Given the description of an element on the screen output the (x, y) to click on. 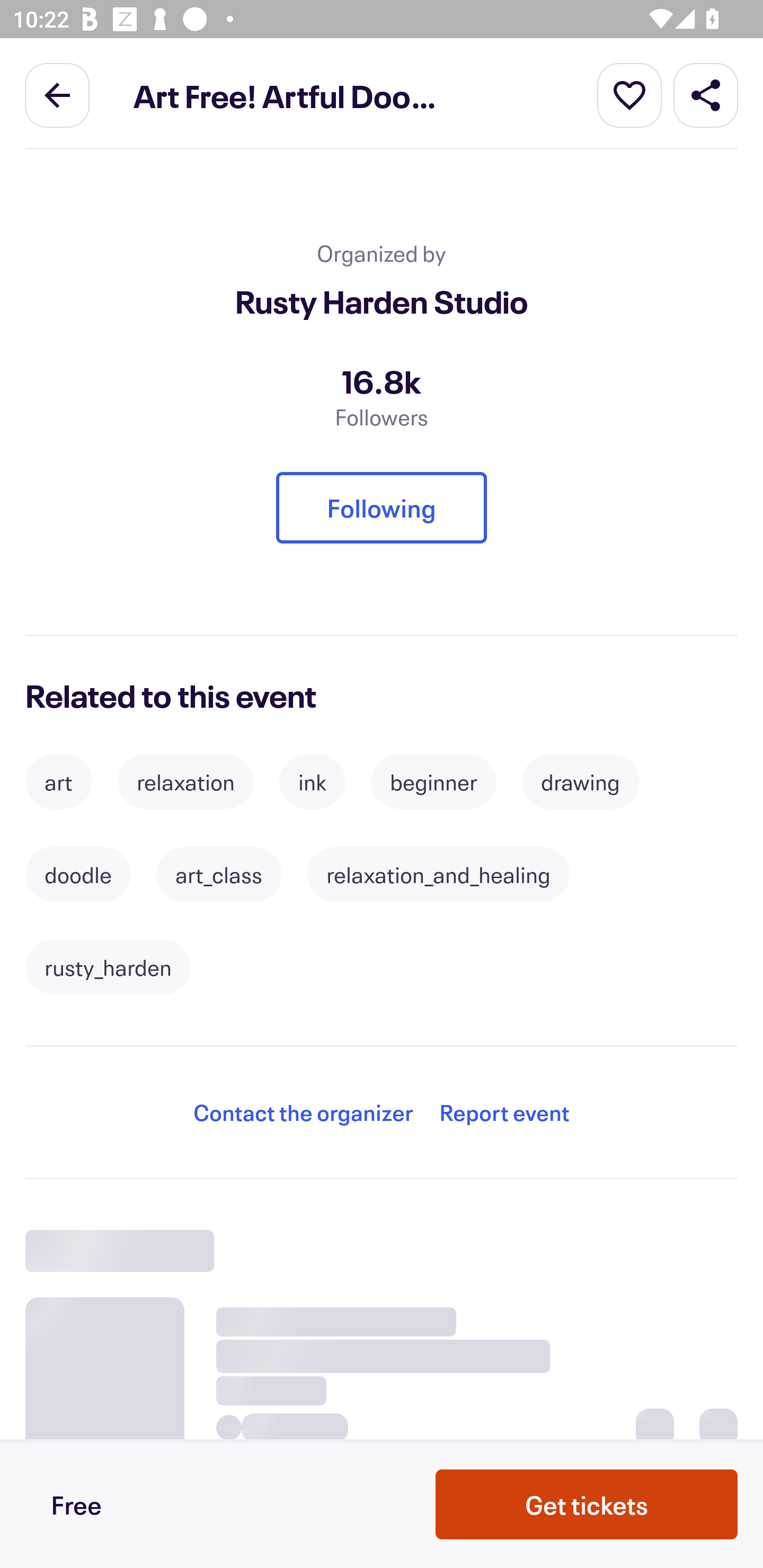
Back (57, 94)
More (629, 94)
Share (705, 94)
Rusty Harden Studio (381, 301)
Following (381, 507)
art (58, 781)
relaxation (185, 781)
ink (312, 781)
beginner (433, 781)
drawing (580, 781)
doodle (78, 873)
art_class (218, 873)
relaxation_and_healing (438, 873)
rusty_harden (107, 967)
Contact the organizer (303, 1112)
Report event (504, 1112)
Get tickets (586, 1504)
